Given the description of an element on the screen output the (x, y) to click on. 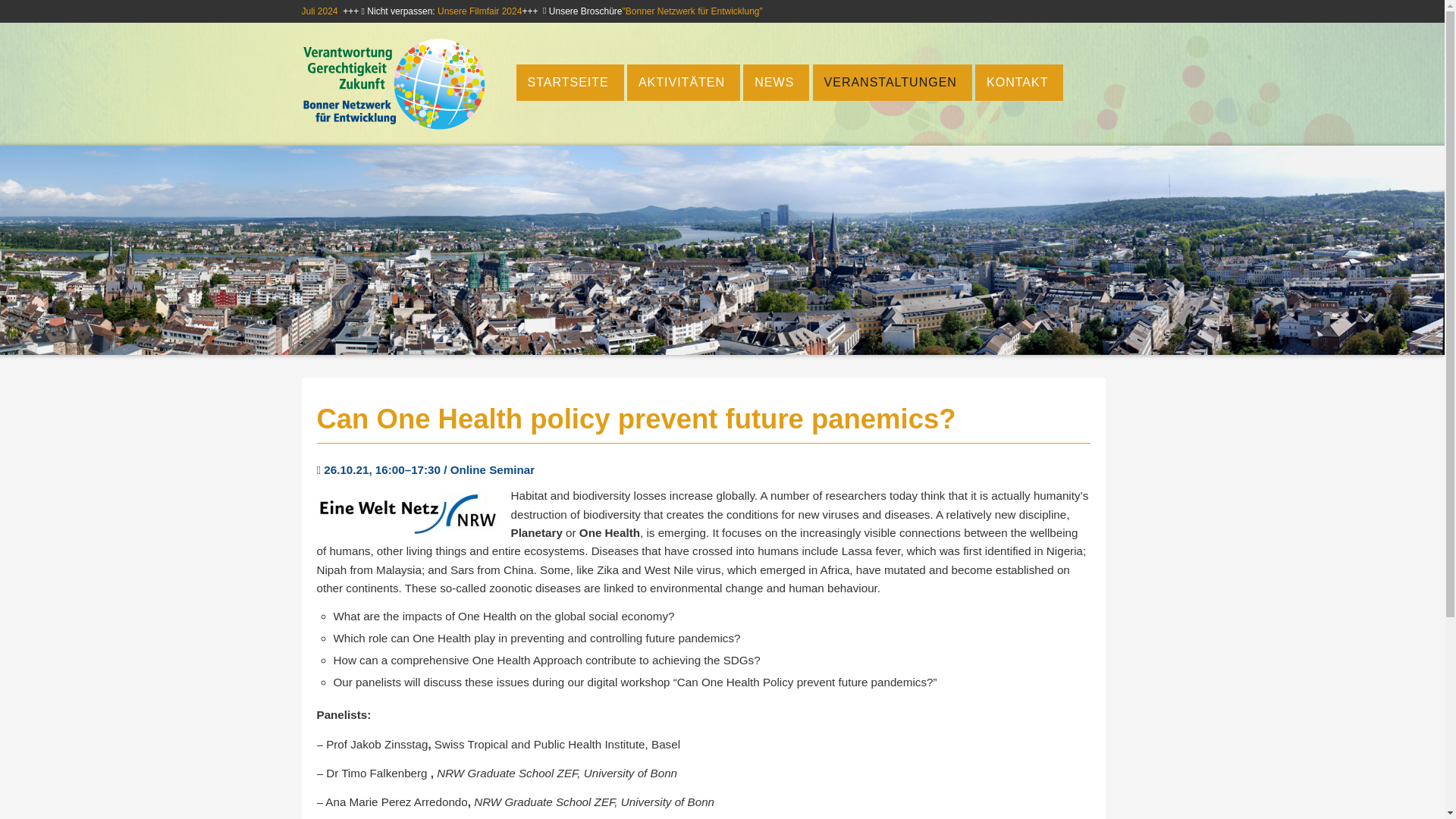
Kontakt (1018, 82)
NEWS (775, 82)
News-Archiv (775, 82)
KONTAKT (1018, 82)
STARTSEITE (569, 82)
Veranstaltungen (892, 82)
VERANSTALTUNGEN (892, 82)
Juli 2024 (319, 10)
Startseite (569, 82)
Juli 2024 (319, 10)
Unsere Filmfair 2024 (479, 10)
